Given the description of an element on the screen output the (x, y) to click on. 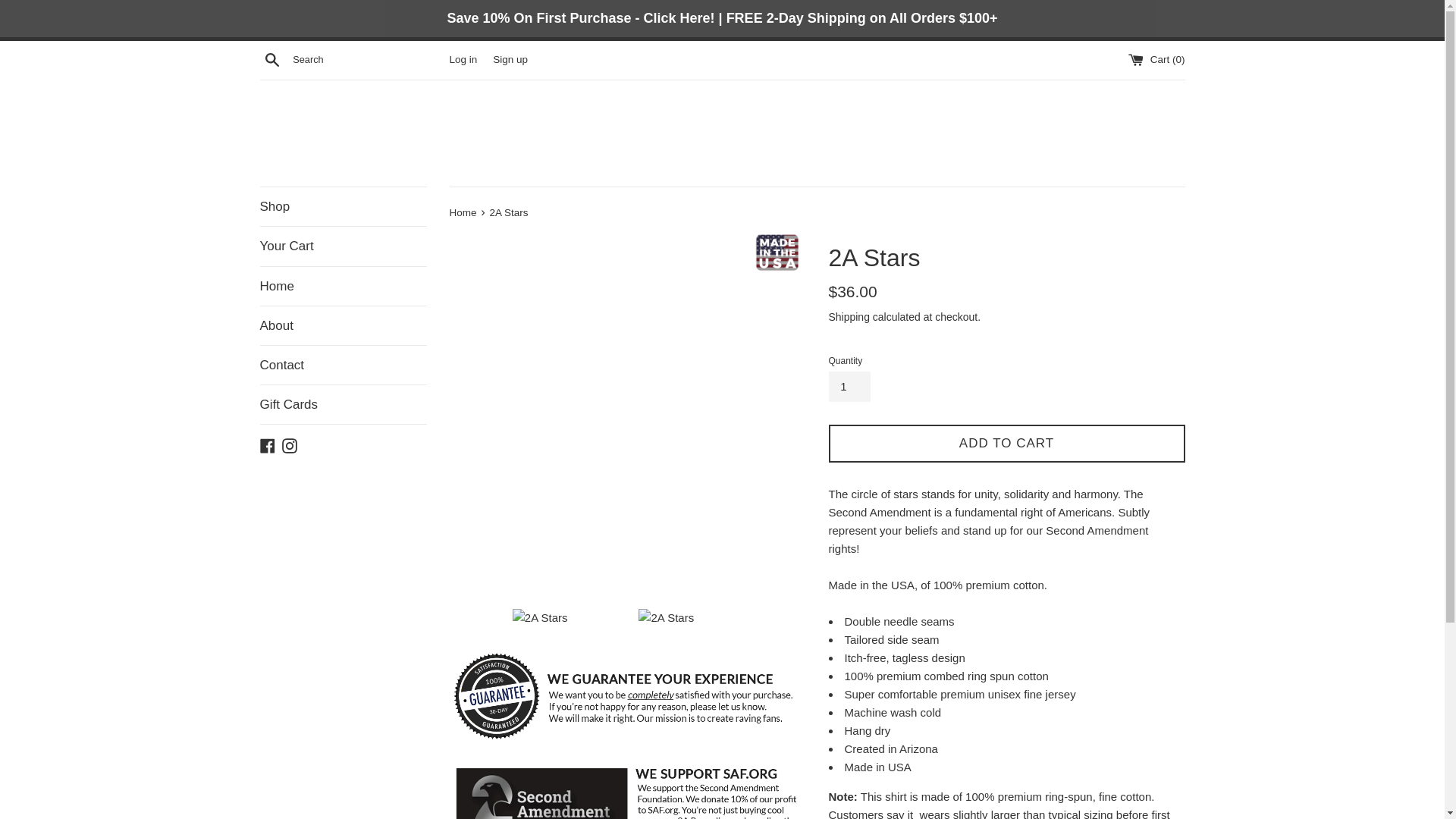
About Element type: text (342, 325)
Cart (0) Element type: text (1156, 59)
Log in Element type: text (462, 59)
Home Element type: text (463, 212)
Instagram Element type: text (289, 444)
Sign up Element type: text (509, 59)
ADD TO CART Element type: text (1006, 443)
Shop Element type: text (342, 206)
Your Cart Element type: text (342, 245)
Facebook Element type: text (266, 444)
Gift Cards Element type: text (342, 404)
Search Element type: text (271, 59)
Contact Element type: text (342, 364)
Home Element type: text (342, 285)
Shipping Element type: text (848, 316)
